Given the description of an element on the screen output the (x, y) to click on. 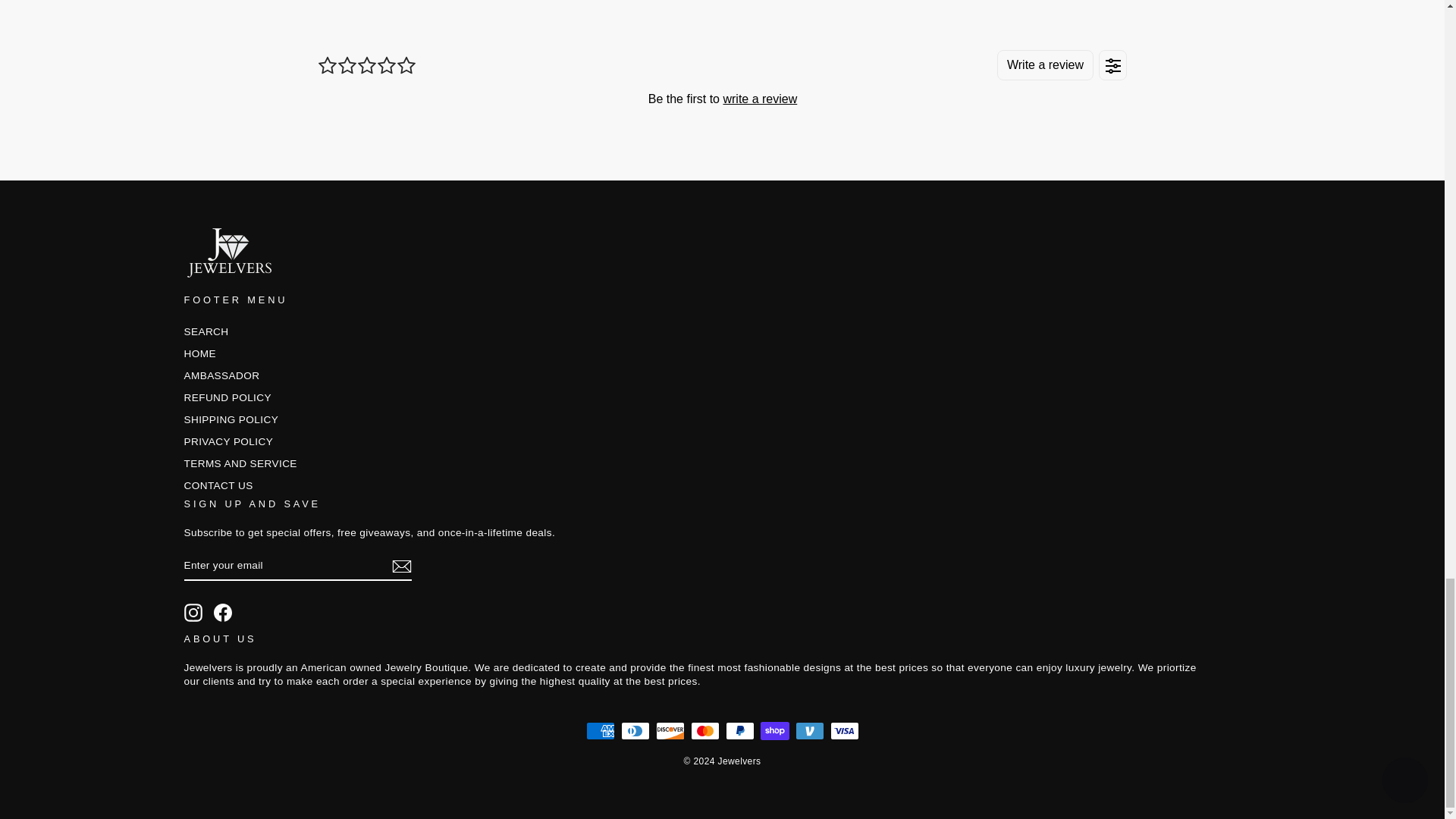
Jewelvers on Instagram (192, 612)
Jewelvers on Facebook (222, 612)
Product reviews widget (722, 79)
